Given the description of an element on the screen output the (x, y) to click on. 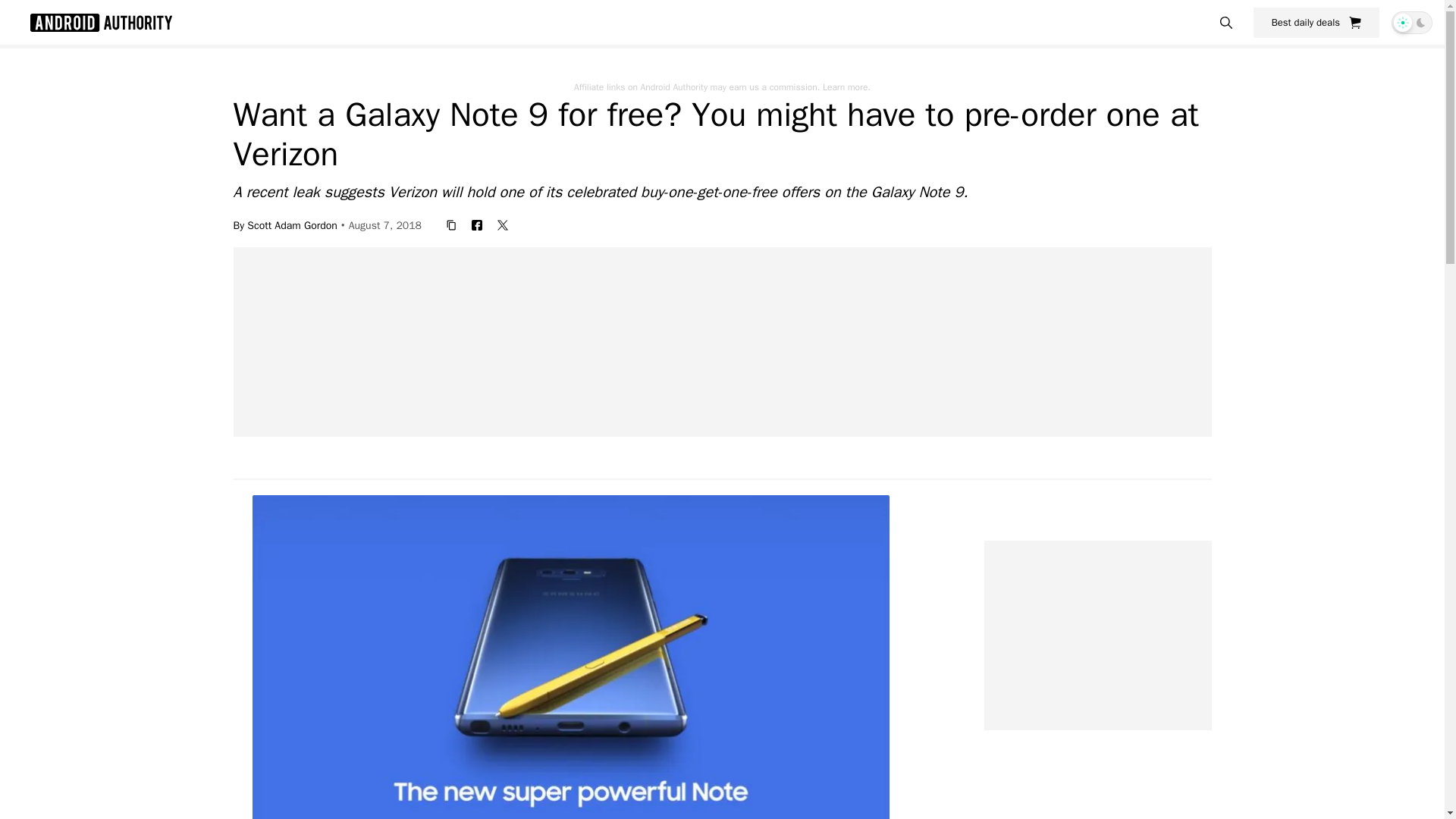
facebook (476, 225)
Learn more. (846, 86)
Best daily deals (1315, 22)
twitter (502, 225)
Scott Adam Gordon (292, 224)
